Given the description of an element on the screen output the (x, y) to click on. 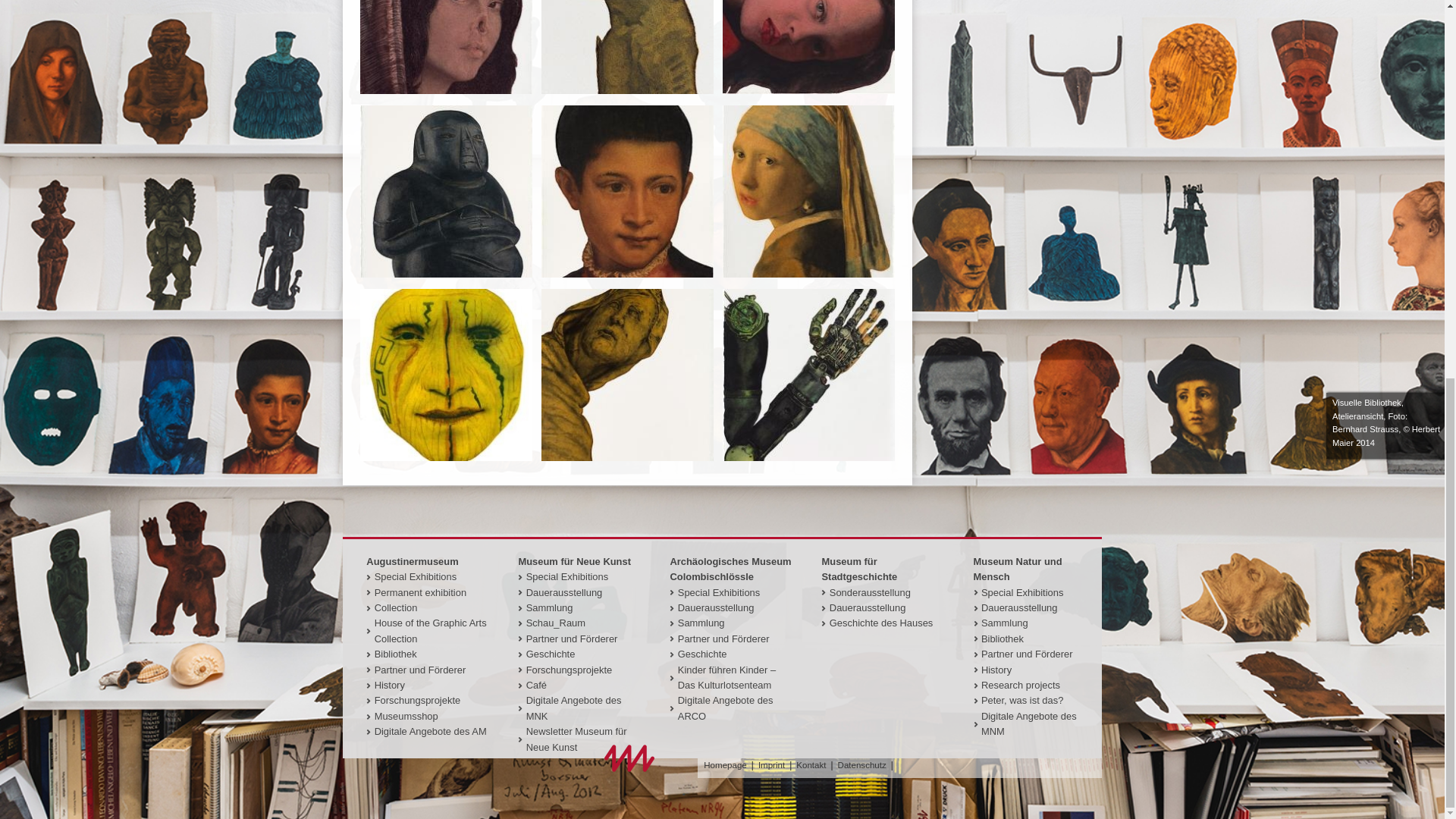
Show original picture (808, 274)
Show original picture (445, 90)
Show original picture (627, 457)
Show original picture (627, 274)
Show original picture (627, 90)
Show original picture (445, 274)
Show original picture (445, 457)
Show original picture (808, 457)
Show original picture (808, 90)
